Given the description of an element on the screen output the (x, y) to click on. 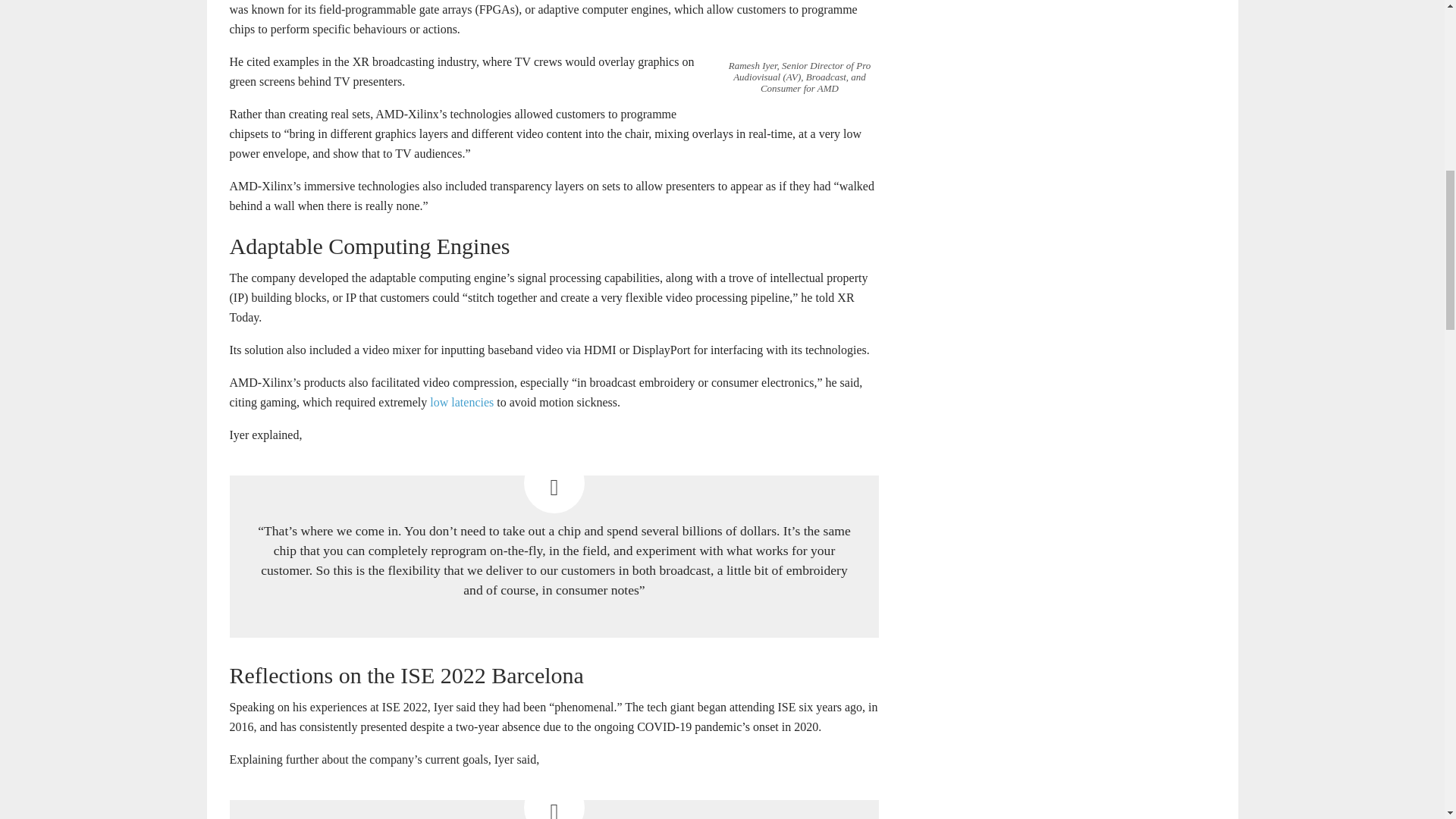
low latencies (461, 401)
